Given the description of an element on the screen output the (x, y) to click on. 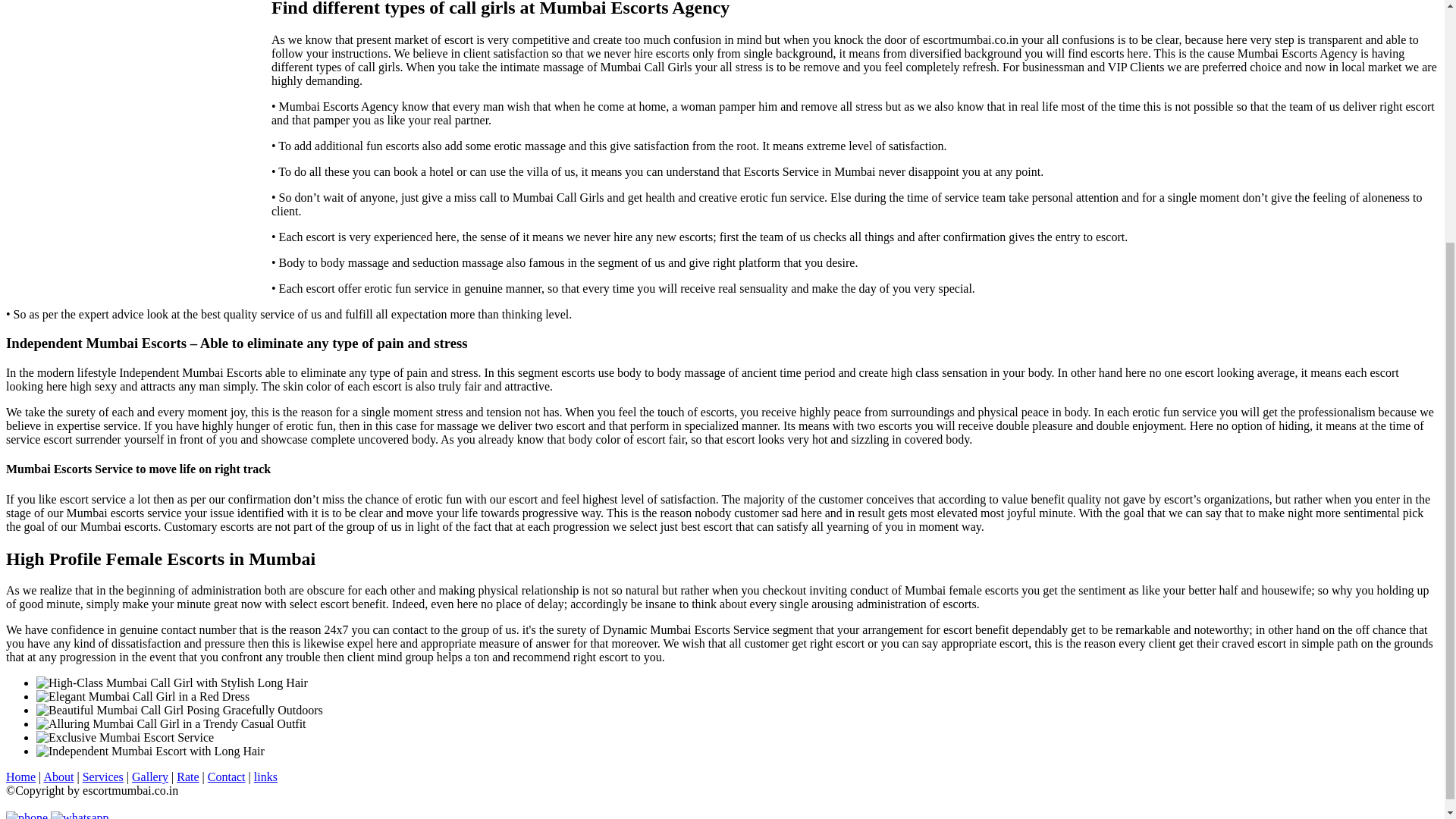
Services (102, 776)
About (58, 776)
Rate (187, 776)
links (265, 776)
Home (19, 776)
Gallery (150, 776)
Contact (227, 776)
